Given the description of an element on the screen output the (x, y) to click on. 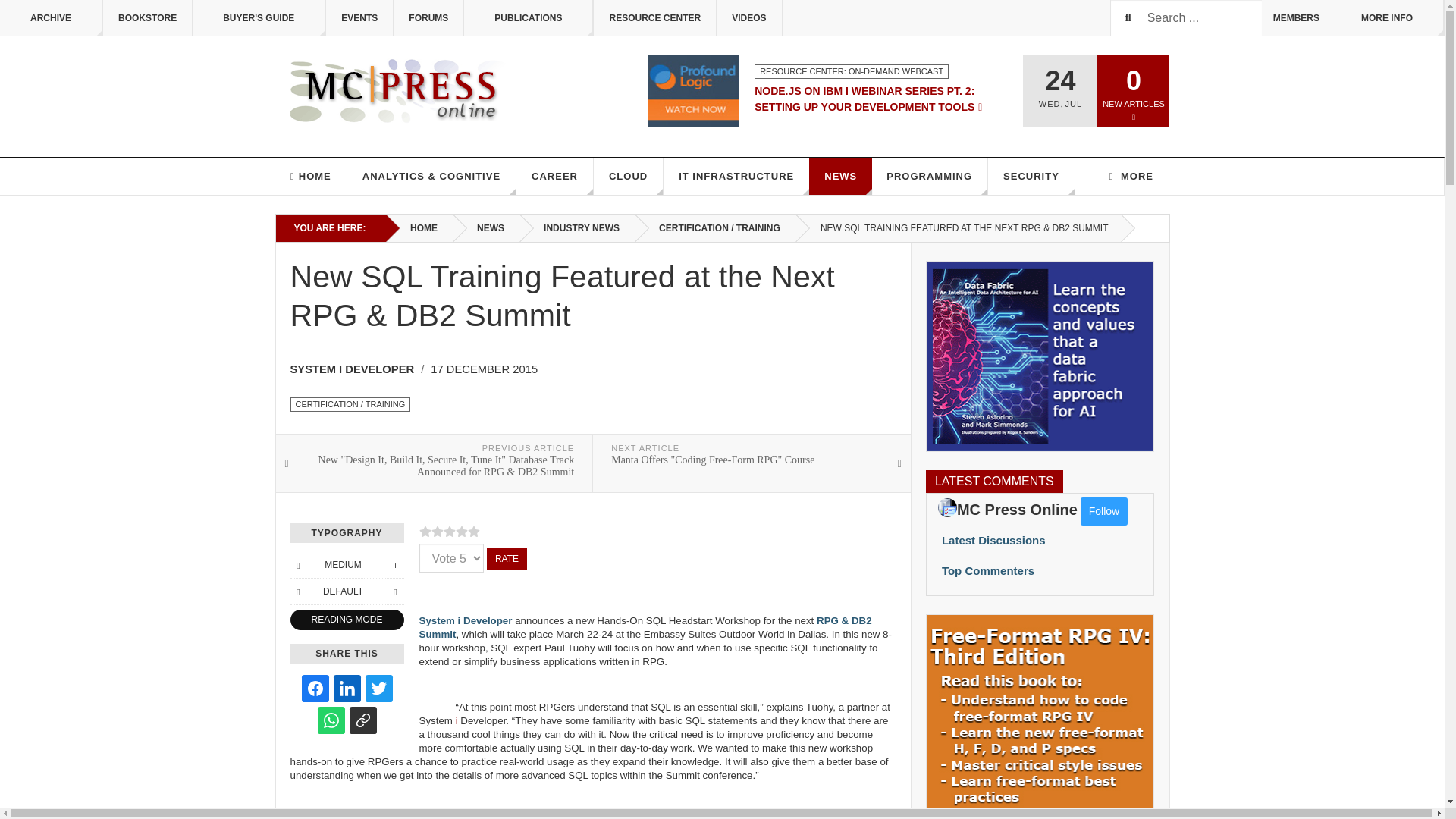
Search ... (1185, 18)
Search ... (1185, 18)
Category:  (851, 71)
Rate (506, 558)
MC Press Online (399, 90)
